Given the description of an element on the screen output the (x, y) to click on. 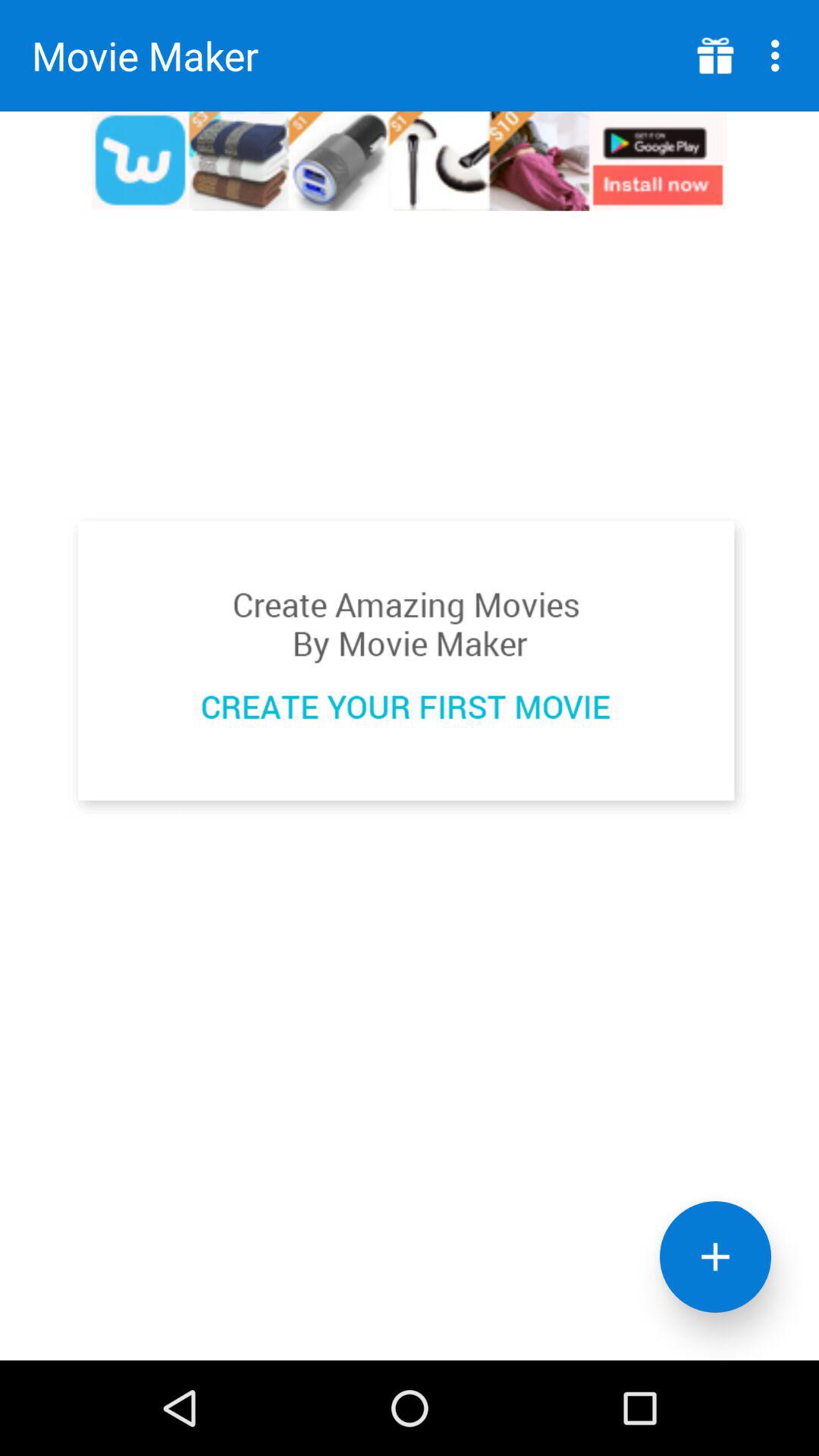
advertisement (409, 665)
